Given the description of an element on the screen output the (x, y) to click on. 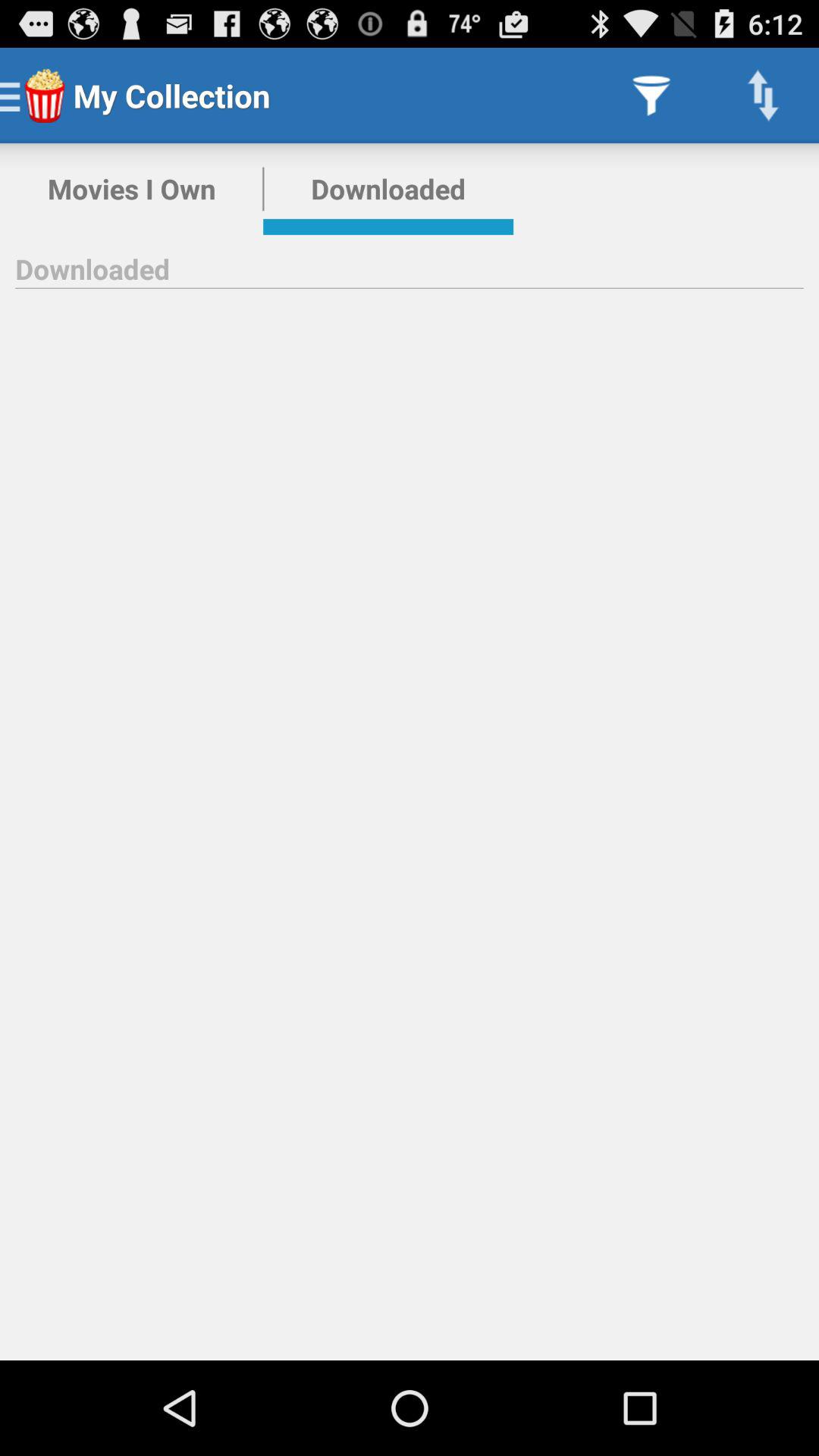
turn on movies i own app (131, 188)
